Given the description of an element on the screen output the (x, y) to click on. 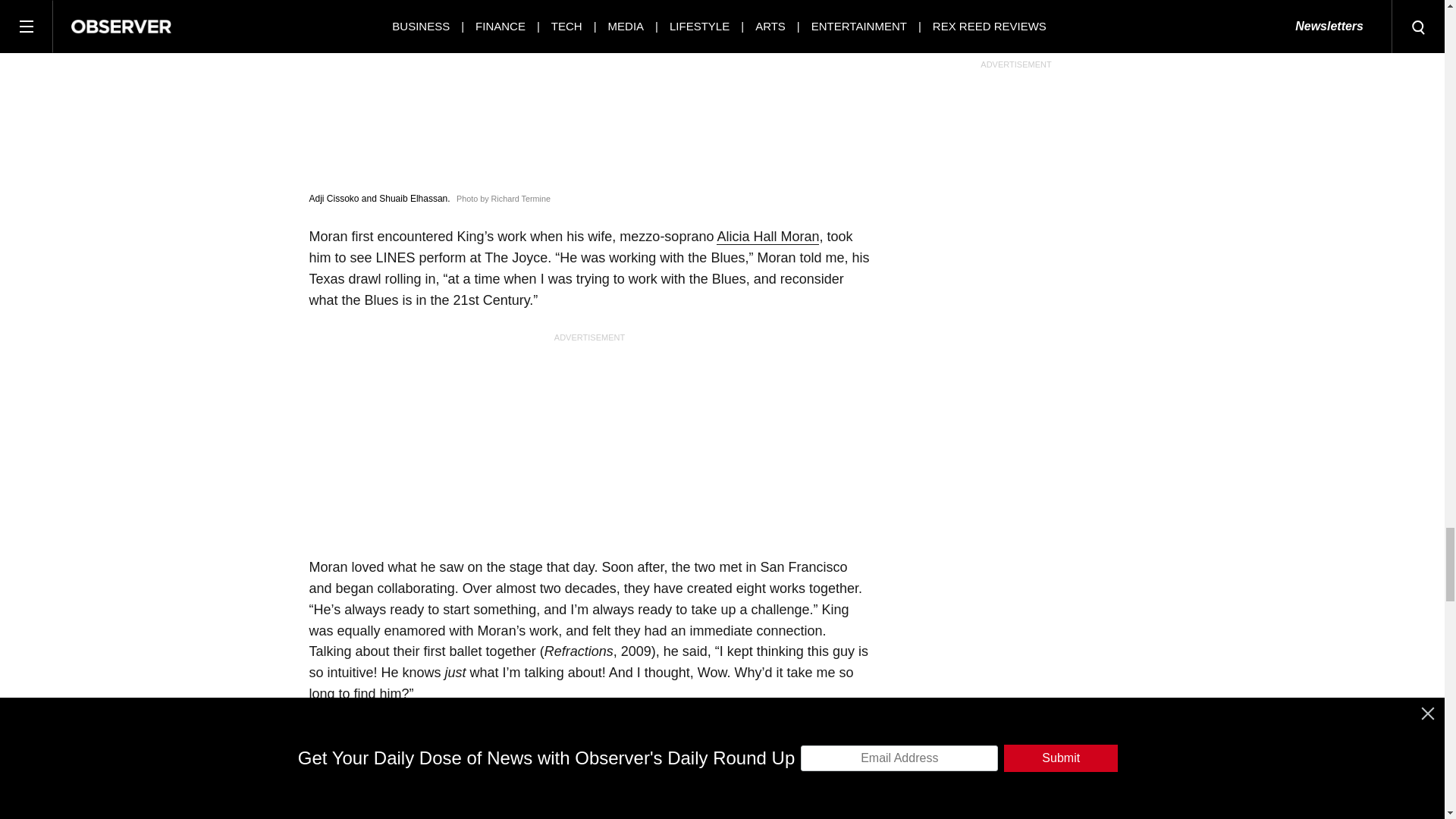
Alicia Hall Moran (767, 236)
